Given the description of an element on the screen output the (x, y) to click on. 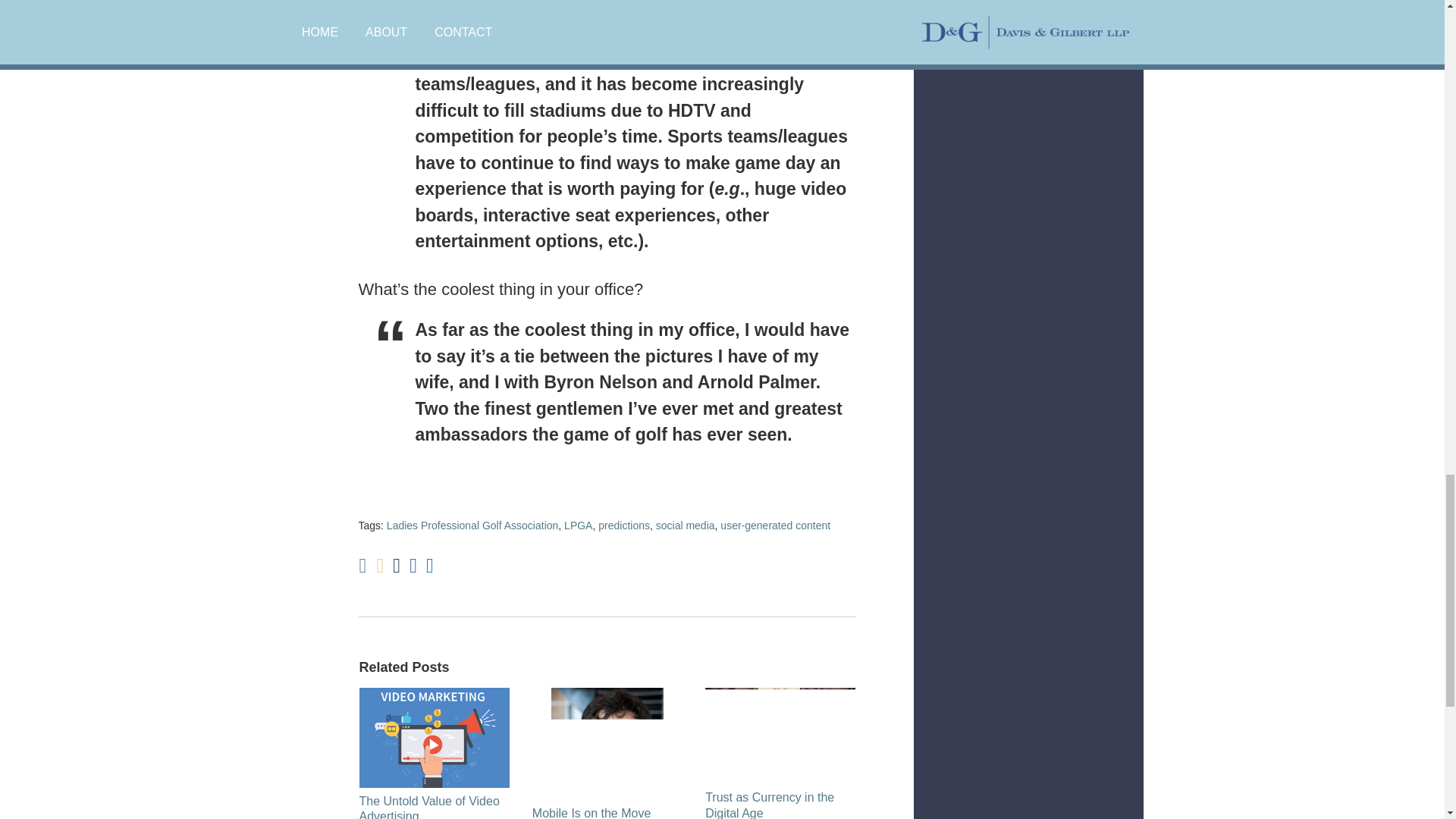
Ladies Professional Golf Association (472, 525)
LPGA (578, 525)
Mobile Is on the Move (591, 812)
predictions (623, 525)
The Untold Value of Video Advertising (434, 806)
user-generated content (774, 525)
social media (685, 525)
Trust as Currency in the Digital Age (780, 804)
